Given the description of an element on the screen output the (x, y) to click on. 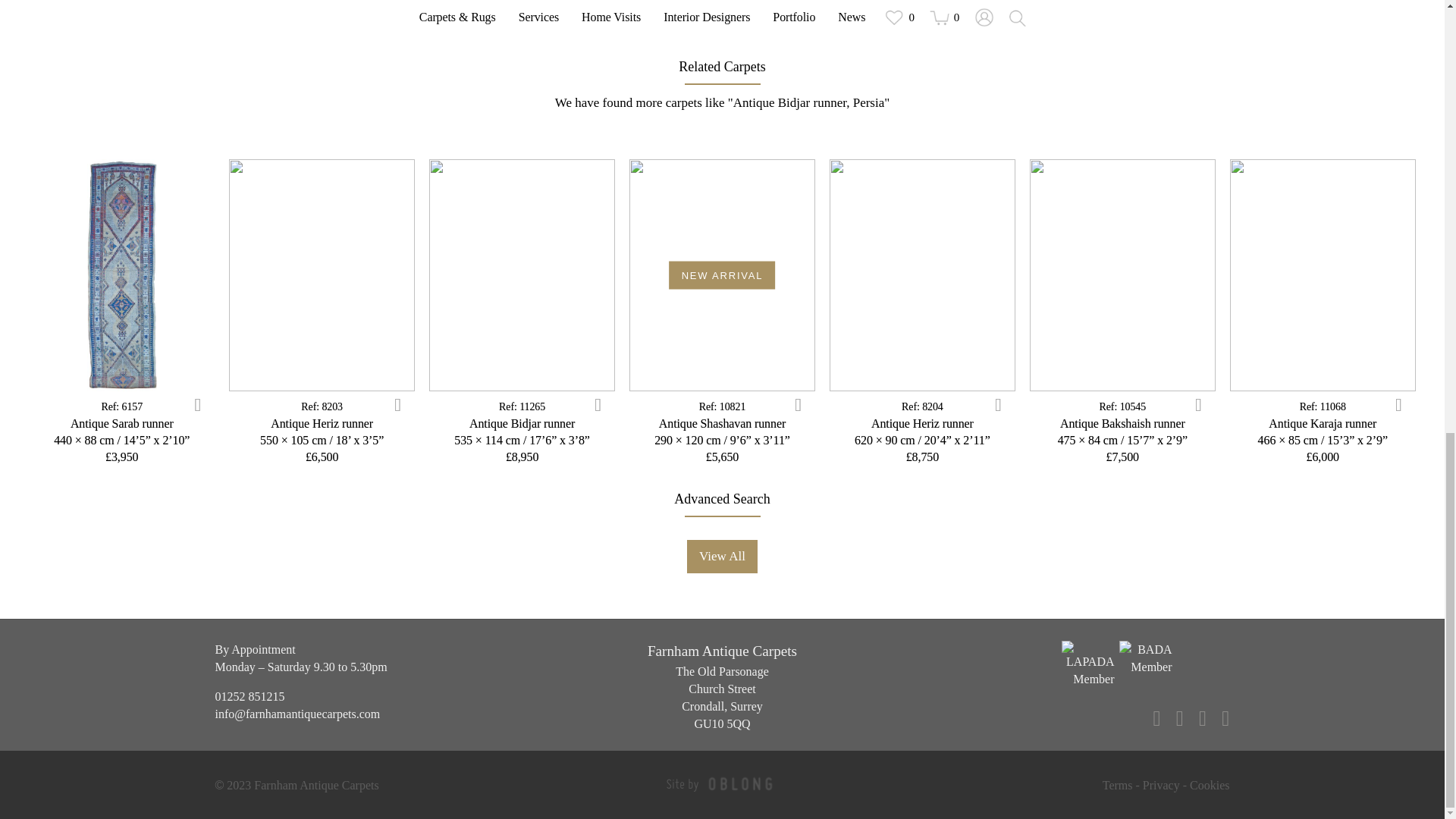
Design and Development from Oblong (739, 783)
Member of LAPADA (1088, 665)
Member of BADA (1145, 665)
